Given the description of an element on the screen output the (x, y) to click on. 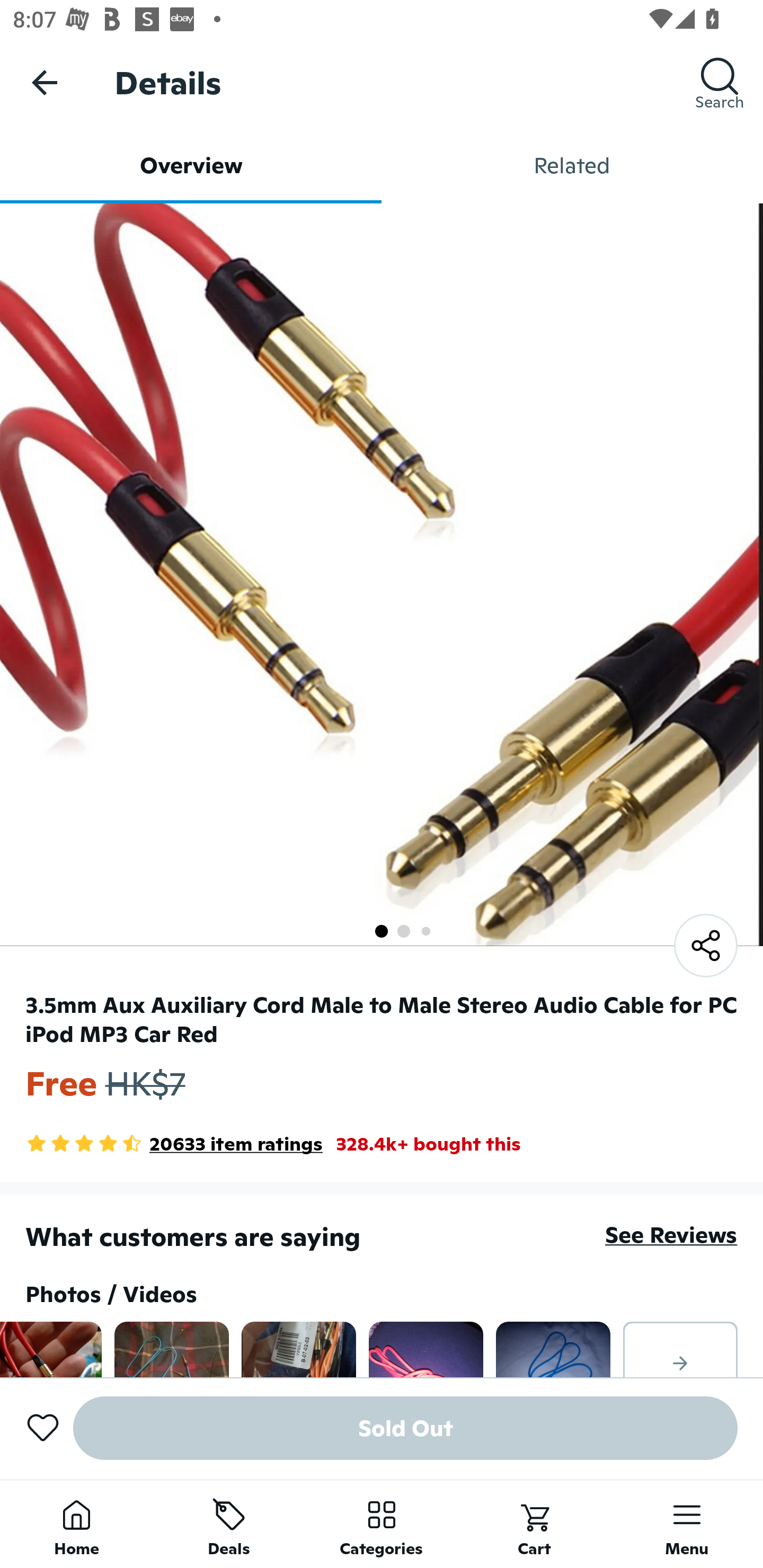
Navigate up (44, 82)
Search (719, 82)
Related (572, 165)
4.3 Star Rating 20633 item ratings (174, 1143)
See Reviews (671, 1234)
Right arrow (680, 1348)
Sold Out (405, 1428)
Home (76, 1523)
Deals (228, 1523)
Categories (381, 1523)
Cart (533, 1523)
Menu (686, 1523)
